Given the description of an element on the screen output the (x, y) to click on. 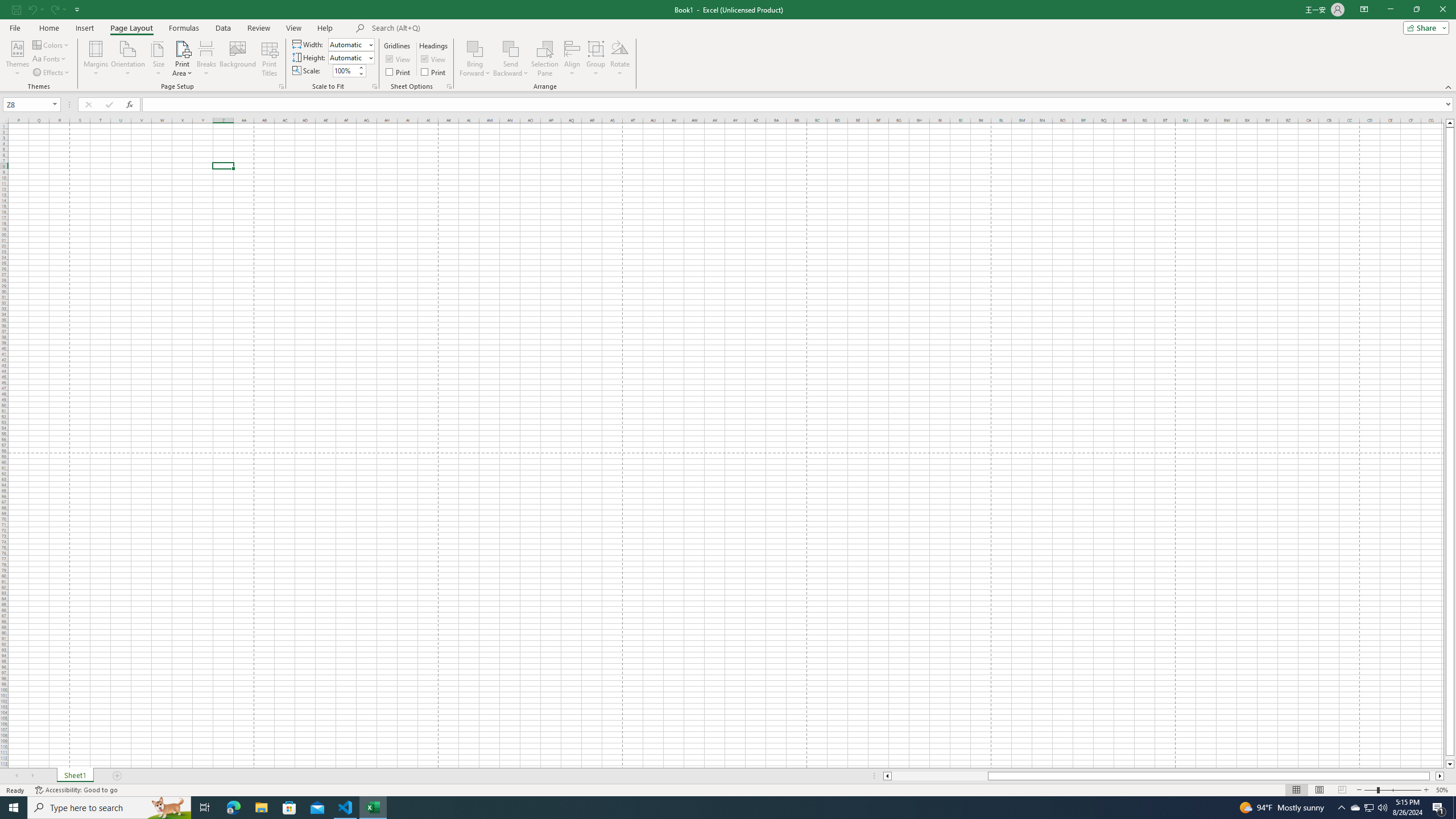
Orientation (128, 58)
Effects (51, 72)
Align (571, 58)
More (360, 67)
